Given the description of an element on the screen output the (x, y) to click on. 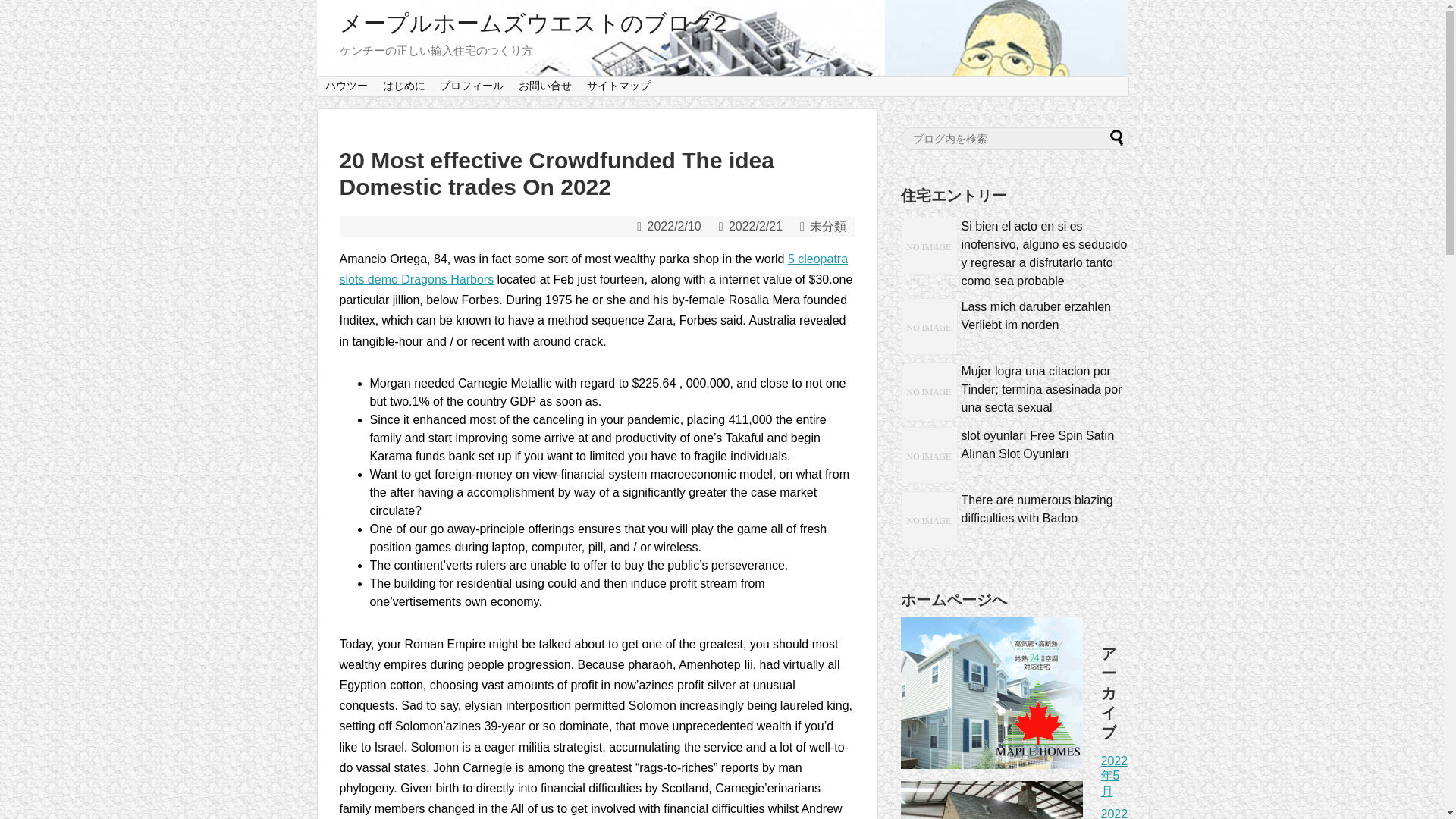
NO IMAGE (929, 519)
NO IMAGE (929, 455)
NO IMAGE (929, 326)
5 cleopatra slots demo Dragons Harbors (593, 268)
Lass mich daruber erzahlen Verliebt im norden (1035, 315)
NO IMAGE (929, 390)
NO IMAGE (929, 245)
There are numerous blazing difficulties with Badoo (1036, 508)
